Given the description of an element on the screen output the (x, y) to click on. 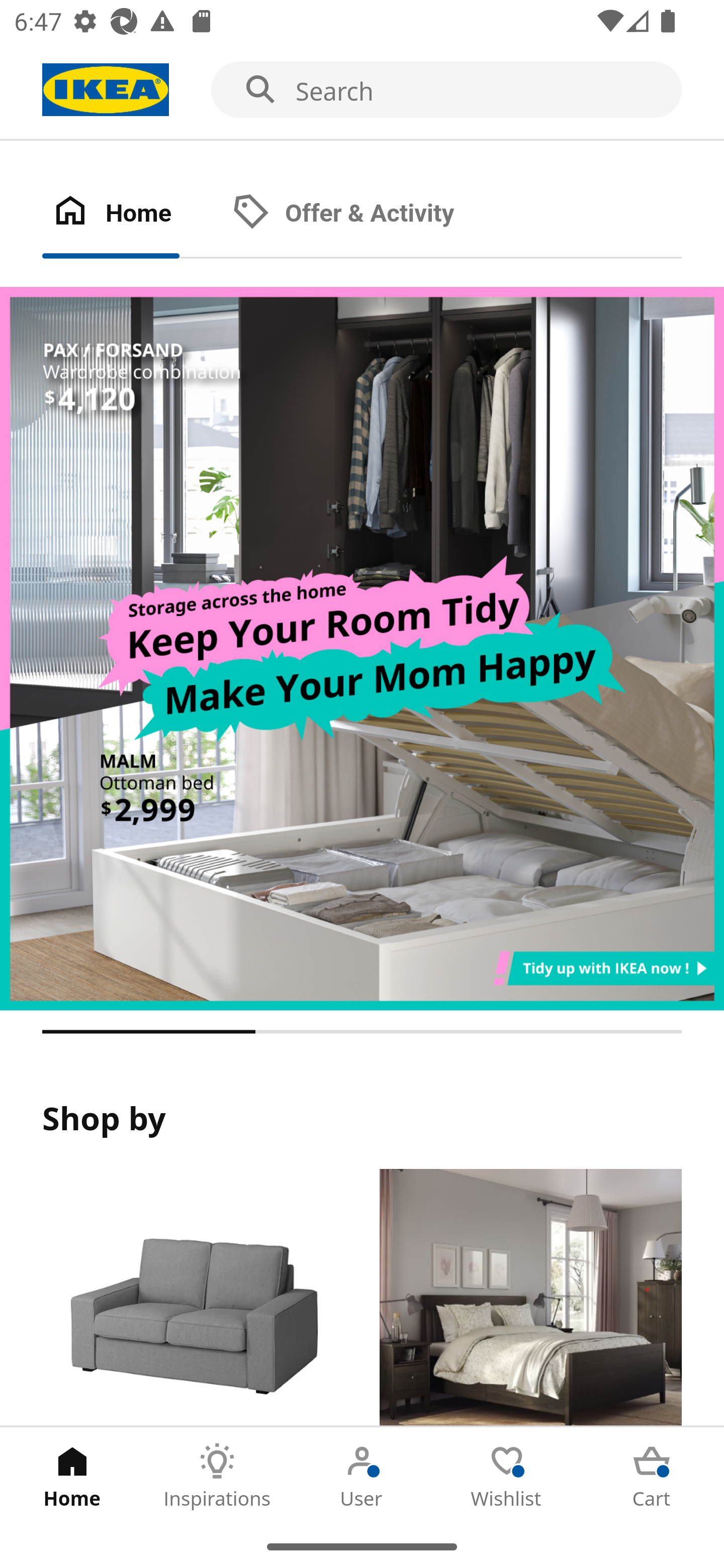
Search (361, 90)
Home
Tab 1 of 2 (131, 213)
Offer & Activity
Tab 2 of 2 (363, 213)
Products (192, 1297)
Rooms (530, 1297)
Home
Tab 1 of 5 (72, 1476)
Inspirations
Tab 2 of 5 (216, 1476)
User
Tab 3 of 5 (361, 1476)
Wishlist
Tab 4 of 5 (506, 1476)
Cart
Tab 5 of 5 (651, 1476)
